Given the description of an element on the screen output the (x, y) to click on. 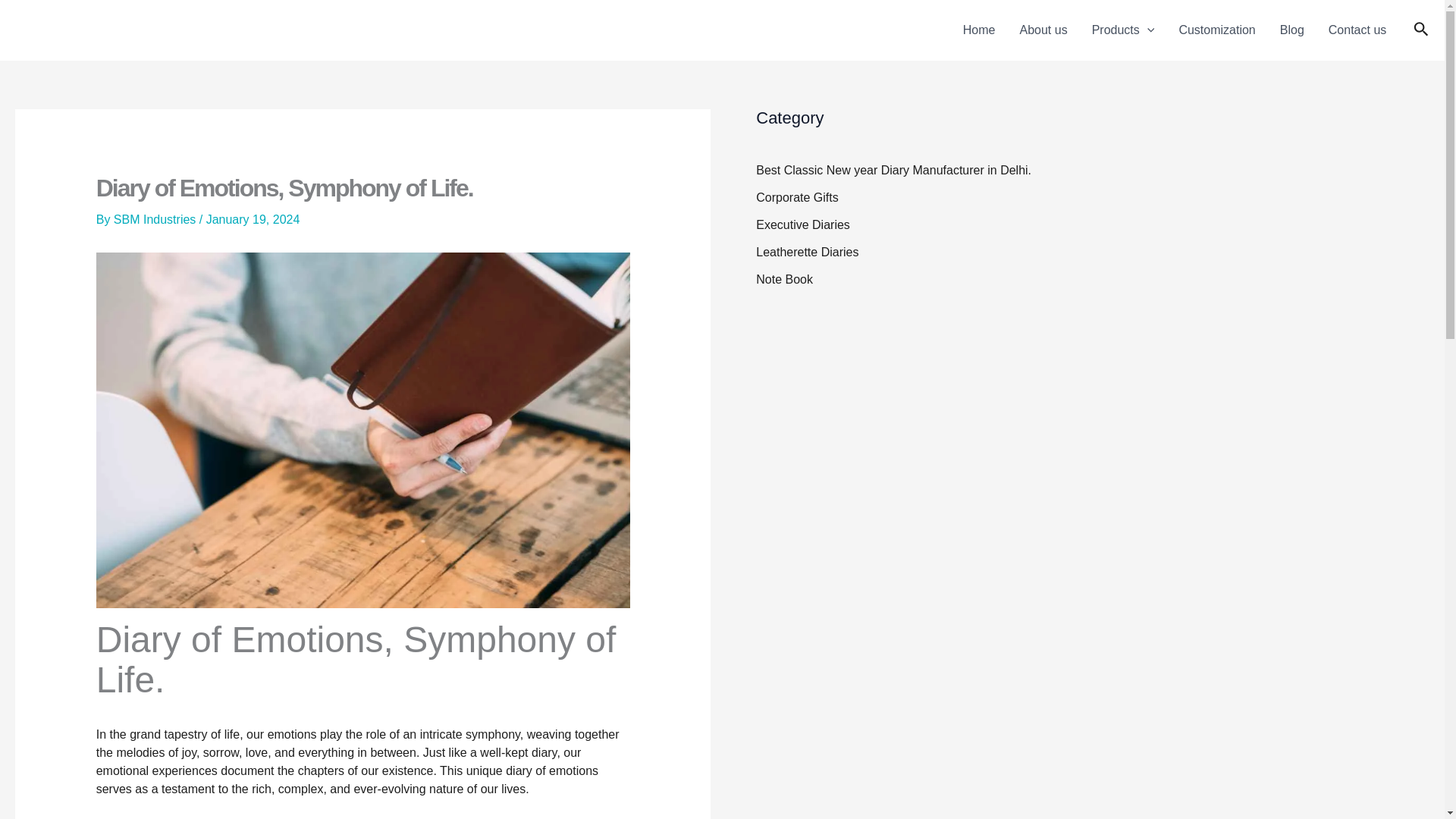
View all posts by SBM Industries (156, 219)
Leatherette Diaries (807, 251)
SBM Industries (156, 219)
Note Book (783, 278)
Best Classic New year Diary Manufacturer in Delhi. (892, 169)
Customization (1216, 30)
Home (978, 30)
Corporate Gifts (796, 196)
Products (1123, 30)
About us (1042, 30)
Executive Diaries (802, 224)
Contact us (1356, 30)
